Given the description of an element on the screen output the (x, y) to click on. 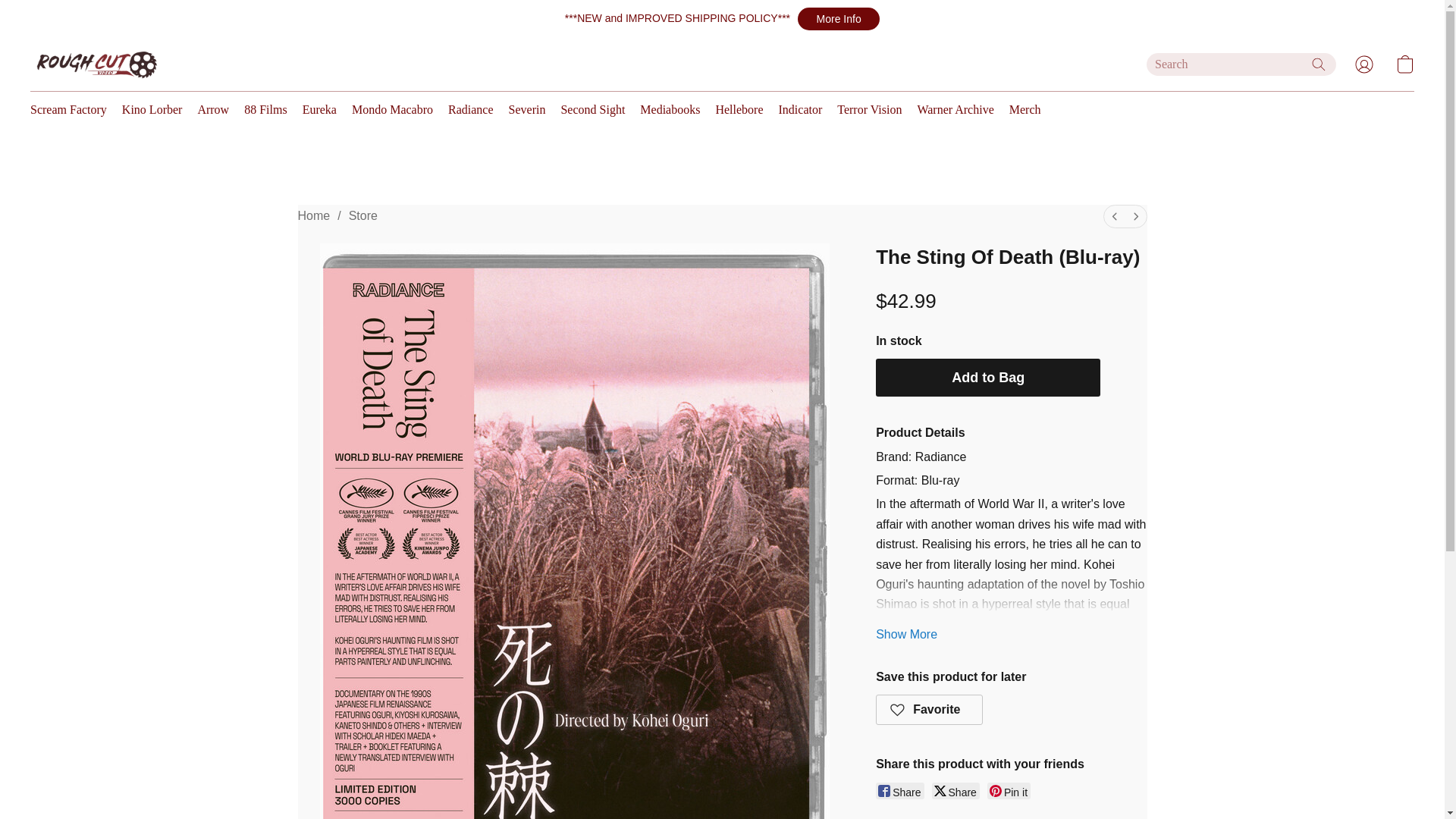
Pin it (1008, 790)
Warner Archive (954, 109)
Show More (906, 634)
Kino Lorber (152, 109)
More Info (838, 18)
Scream Factory (72, 109)
Arrow (212, 109)
Terror Vision (868, 109)
Add to Bag (988, 377)
Mediabooks (669, 109)
Favorite (929, 709)
Share (899, 790)
Mondo Macabro (392, 109)
88 Films (264, 109)
Radiance (470, 109)
